Given the description of an element on the screen output the (x, y) to click on. 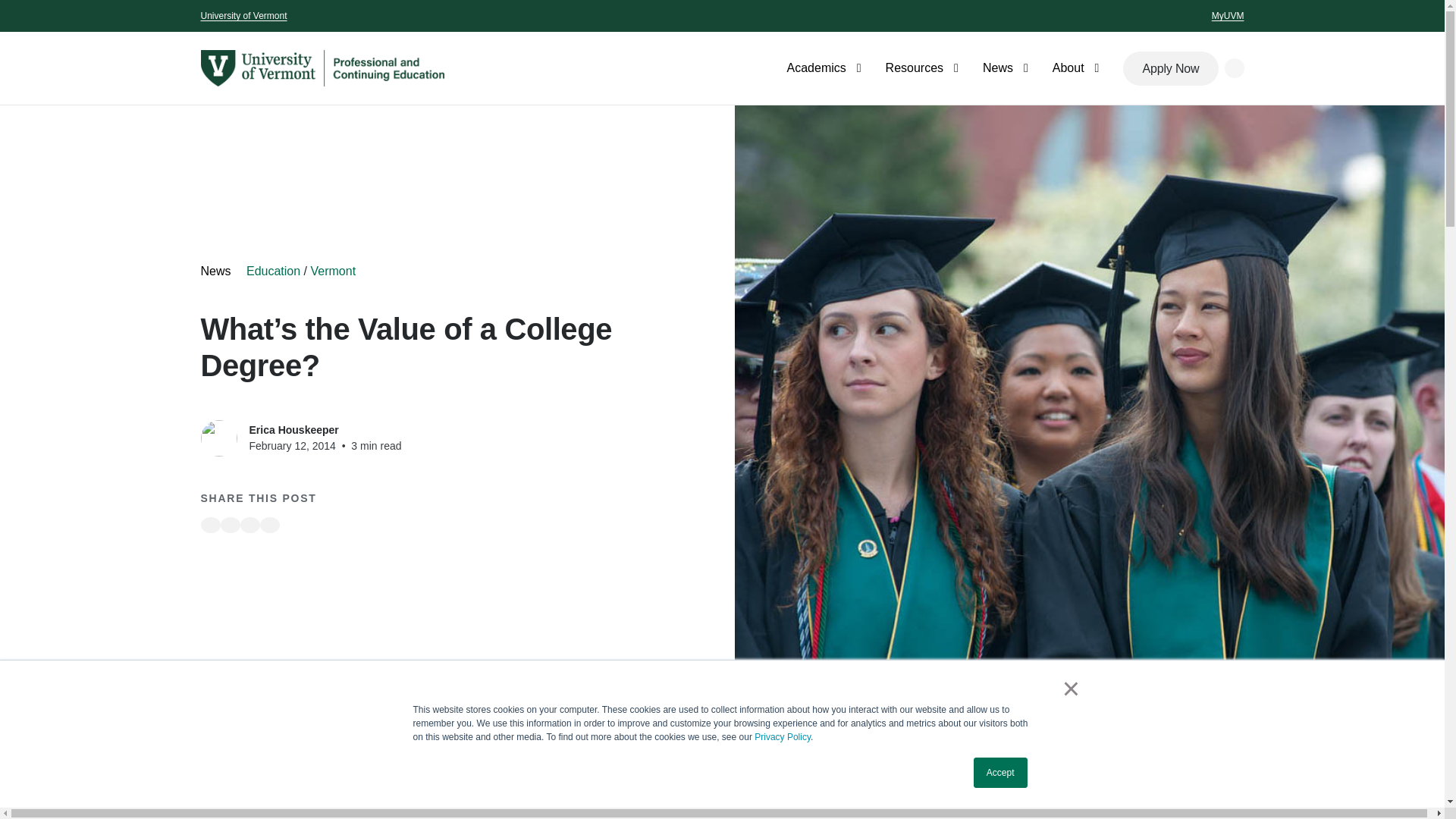
Resources (933, 67)
Academics (836, 67)
Facebook (209, 524)
Email (269, 524)
LinkedIn (249, 524)
Privacy Policy (782, 737)
Accept (1000, 772)
News (1017, 67)
Twitter (229, 524)
